Given the description of an element on the screen output the (x, y) to click on. 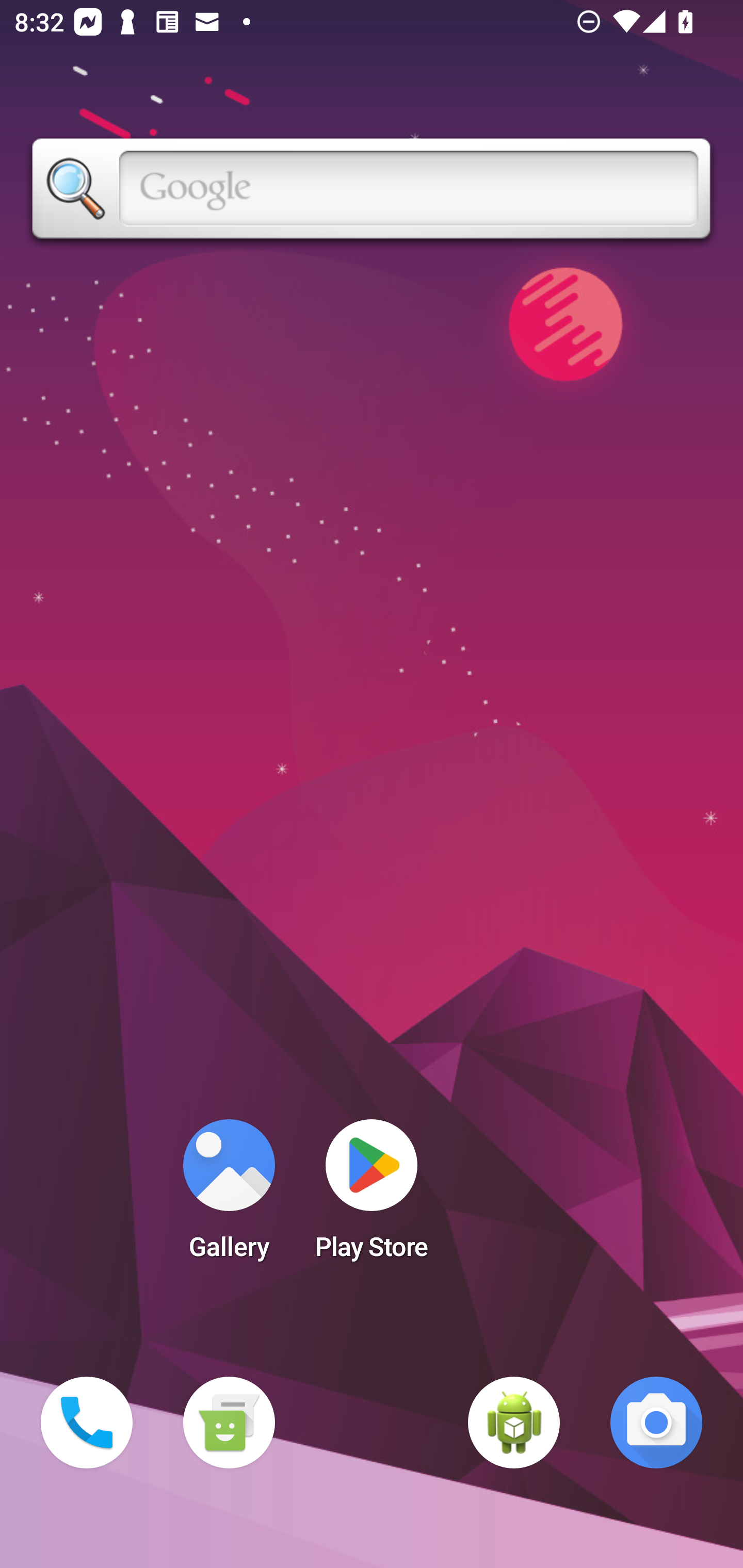
Gallery (228, 1195)
Play Store (371, 1195)
Phone (86, 1422)
Messaging (228, 1422)
WebView Browser Tester (513, 1422)
Camera (656, 1422)
